Given the description of an element on the screen output the (x, y) to click on. 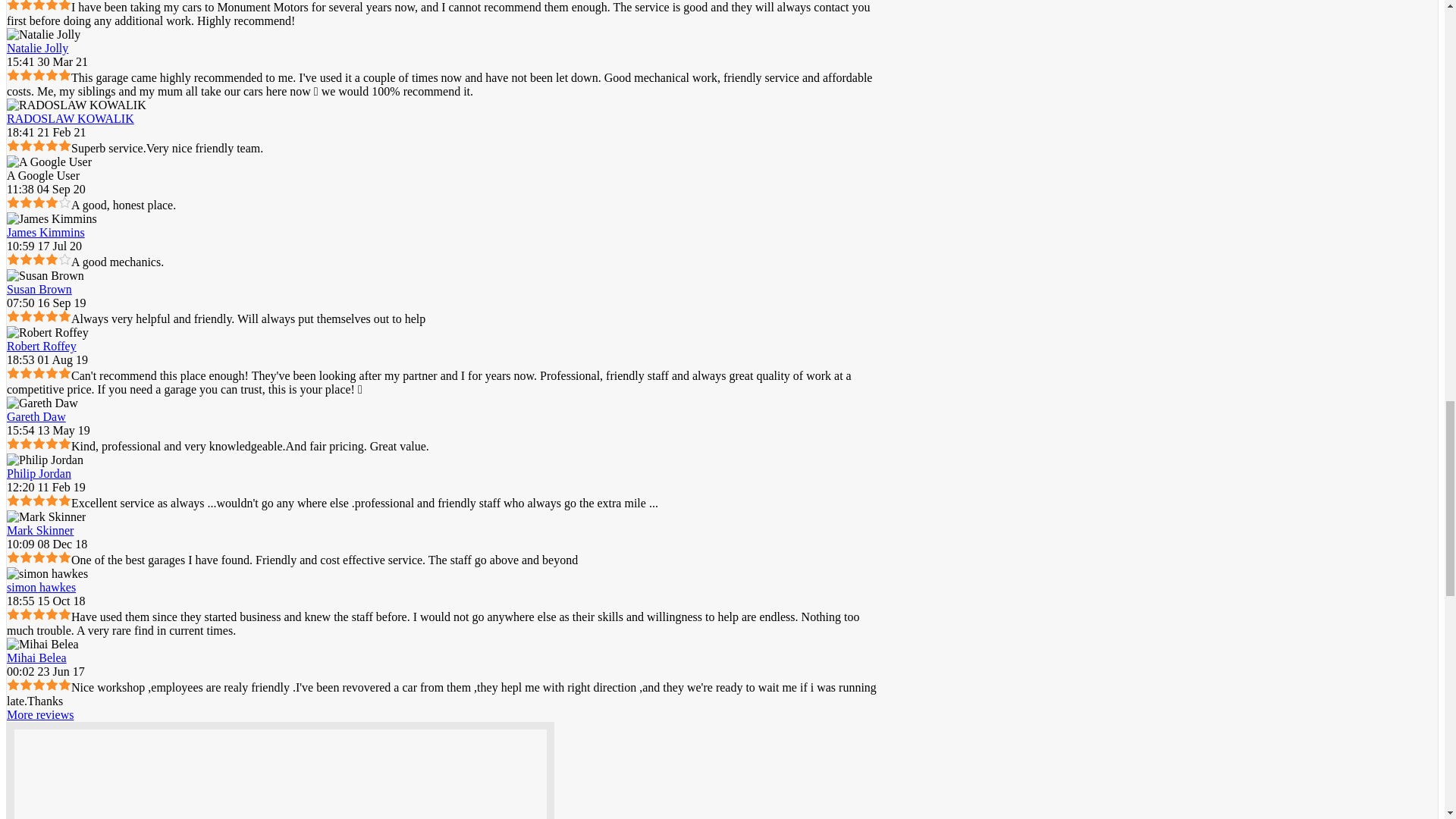
Gareth Daw (36, 416)
Natalie Jolly (43, 34)
Susan Brown (39, 288)
Natalie Jolly (37, 47)
Mark Skinner (40, 530)
RADOSLAW KOWALIK (77, 105)
Robert Roffey (42, 345)
Philip Jordan (39, 472)
RADOSLAW KOWALIK (70, 118)
James Kimmins (45, 232)
